Given the description of an element on the screen output the (x, y) to click on. 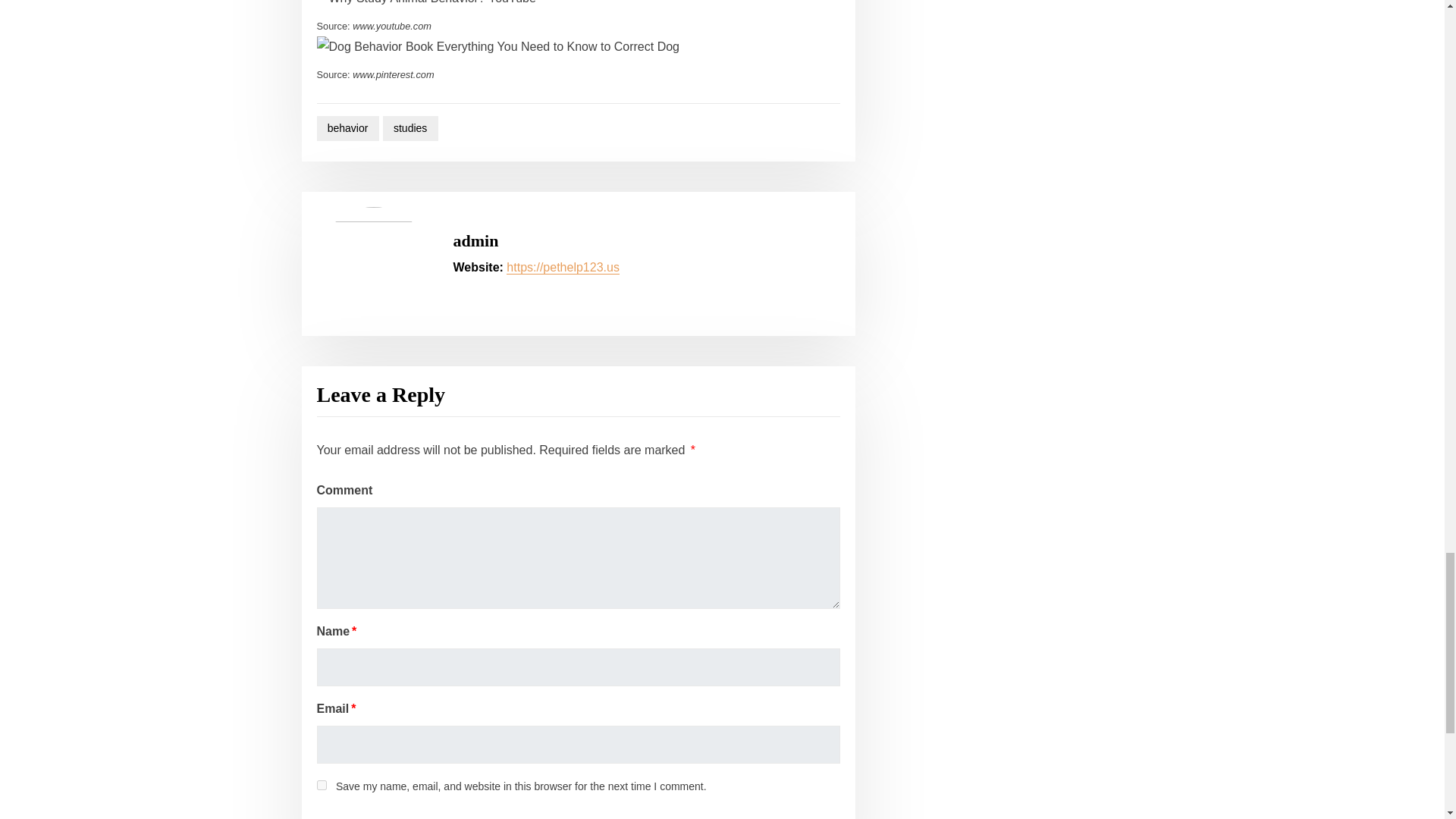
studies (410, 128)
yes (321, 785)
admin (475, 240)
behavior (347, 128)
